Given the description of an element on the screen output the (x, y) to click on. 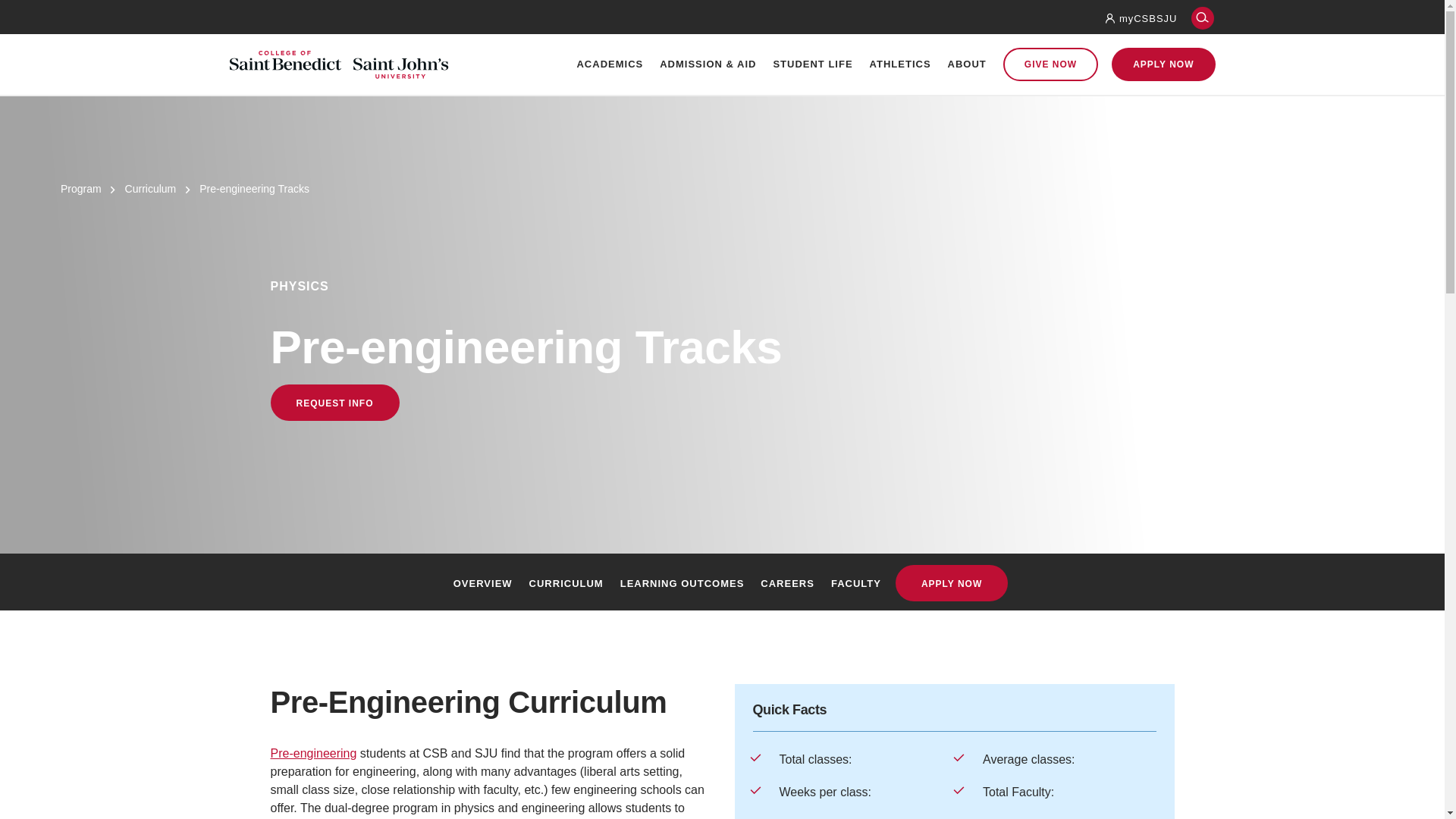
BACK (707, 169)
Academic Affairs (900, 201)
Toggle Search Form (1202, 18)
Academic Catalog (710, 201)
School of Theology (494, 233)
ACADEMICS (609, 64)
Study Abroad (710, 233)
PROGRAMS (494, 139)
BACK (900, 169)
BACK (468, 169)
Honors Scholars (710, 393)
ADMISSION (468, 139)
SERVICES (900, 139)
Libraries (710, 361)
BACK (451, 139)
